Given the description of an element on the screen output the (x, y) to click on. 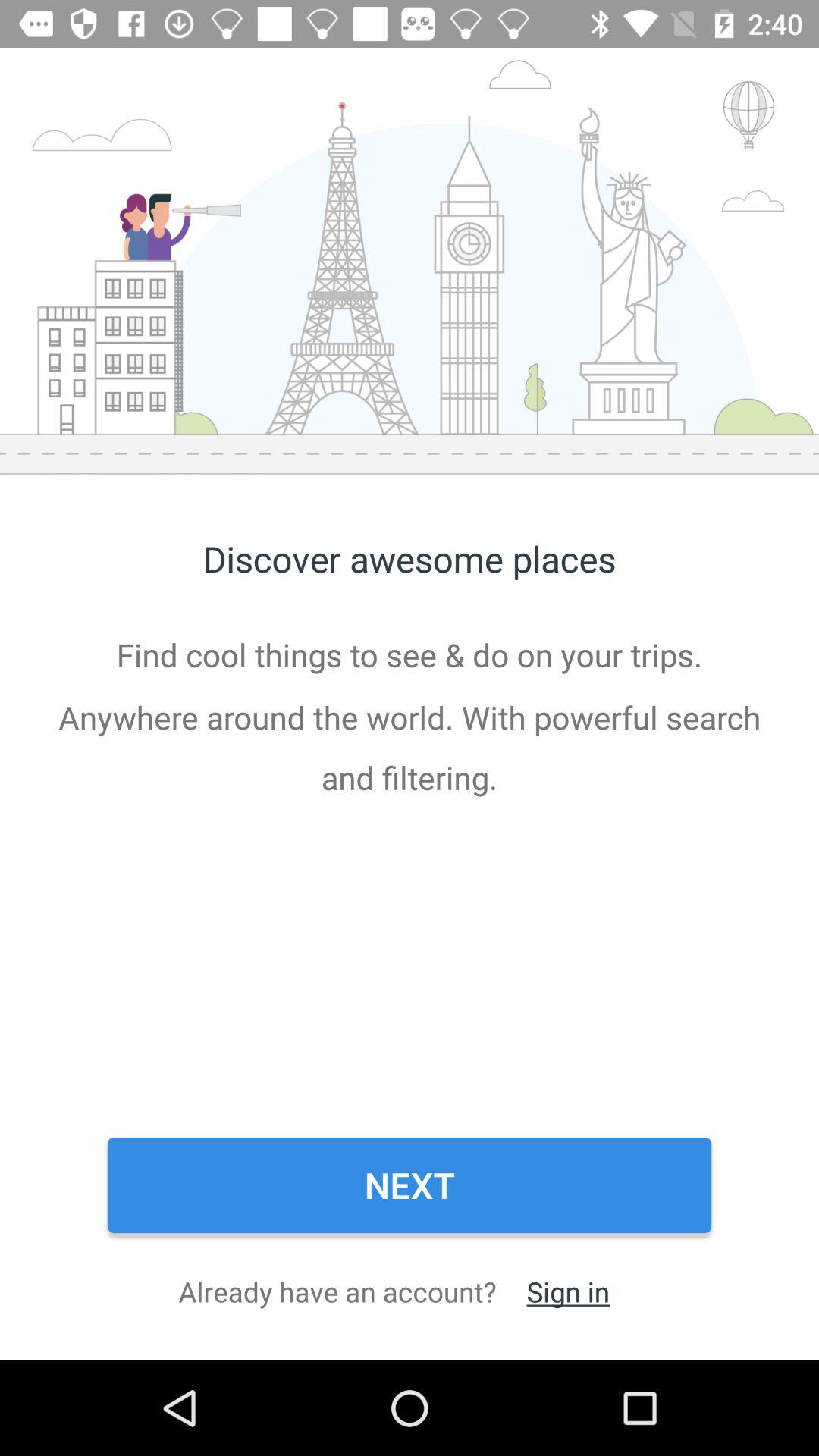
choose item below find cool things item (409, 1185)
